Given the description of an element on the screen output the (x, y) to click on. 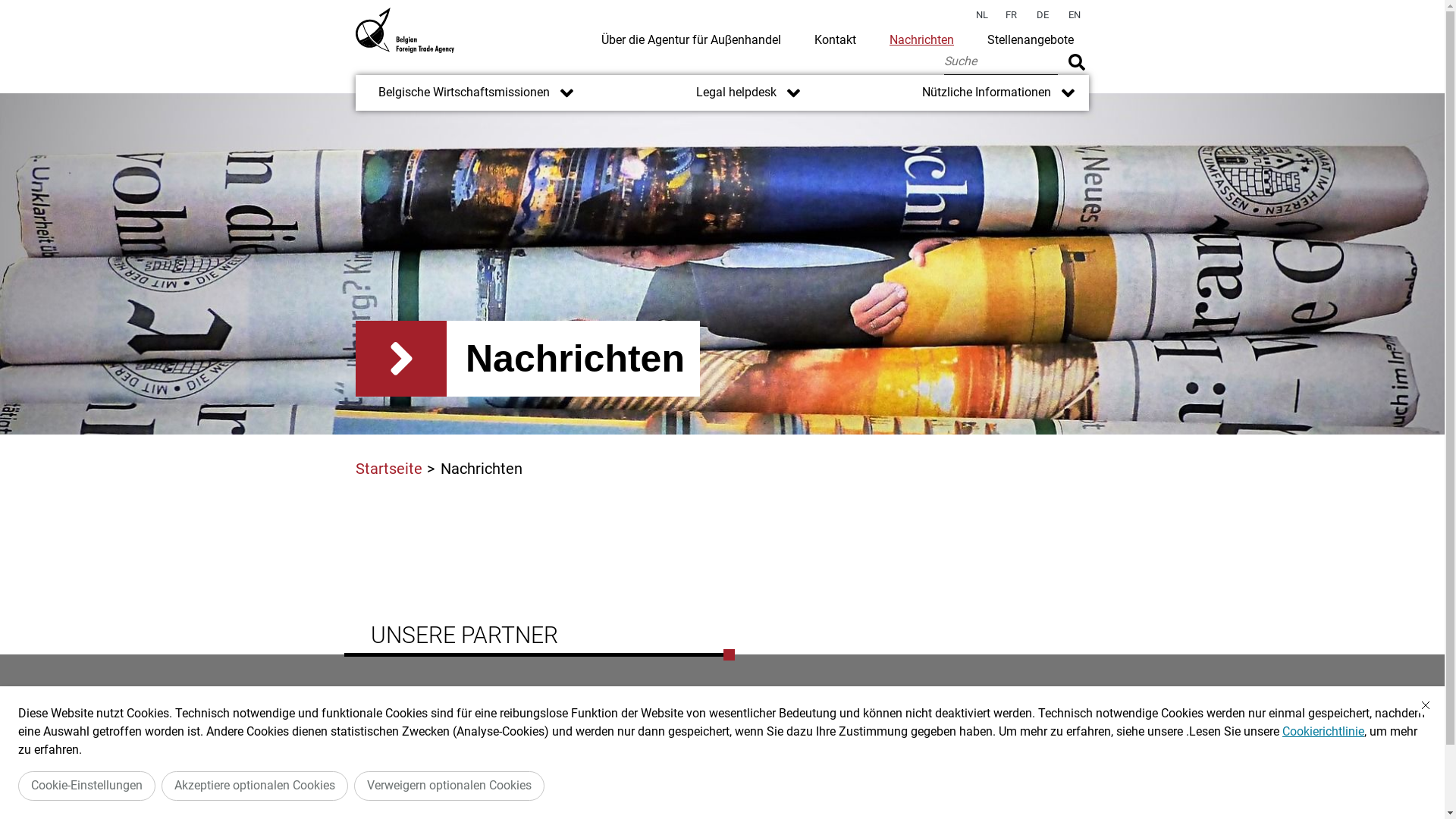
Apply Element type: text (1076, 62)
EN Element type: text (1074, 15)
DIREKT ZUM INHALT Element type: text (721, 7)
Cookierichtlinie Element type: text (1323, 731)
FR Element type: text (1010, 15)
Open submenu Element type: text (566, 92)
Nachrichten Element type: text (921, 39)
Cookie-Einstellungen Element type: text (86, 785)
Stellenangebote Element type: text (1030, 39)
Startseite Element type: text (388, 468)
Open submenu Element type: text (793, 92)
DE Element type: text (1042, 15)
Verweigern optionalen Cookies Element type: text (449, 785)
Legal helpdesk Element type: text (724, 92)
Open submenu Element type: text (1067, 92)
Kontakt Element type: text (835, 39)
NL Element type: text (981, 15)
Akzeptiere optionalen Cookies Element type: text (254, 785)
